Given the description of an element on the screen output the (x, y) to click on. 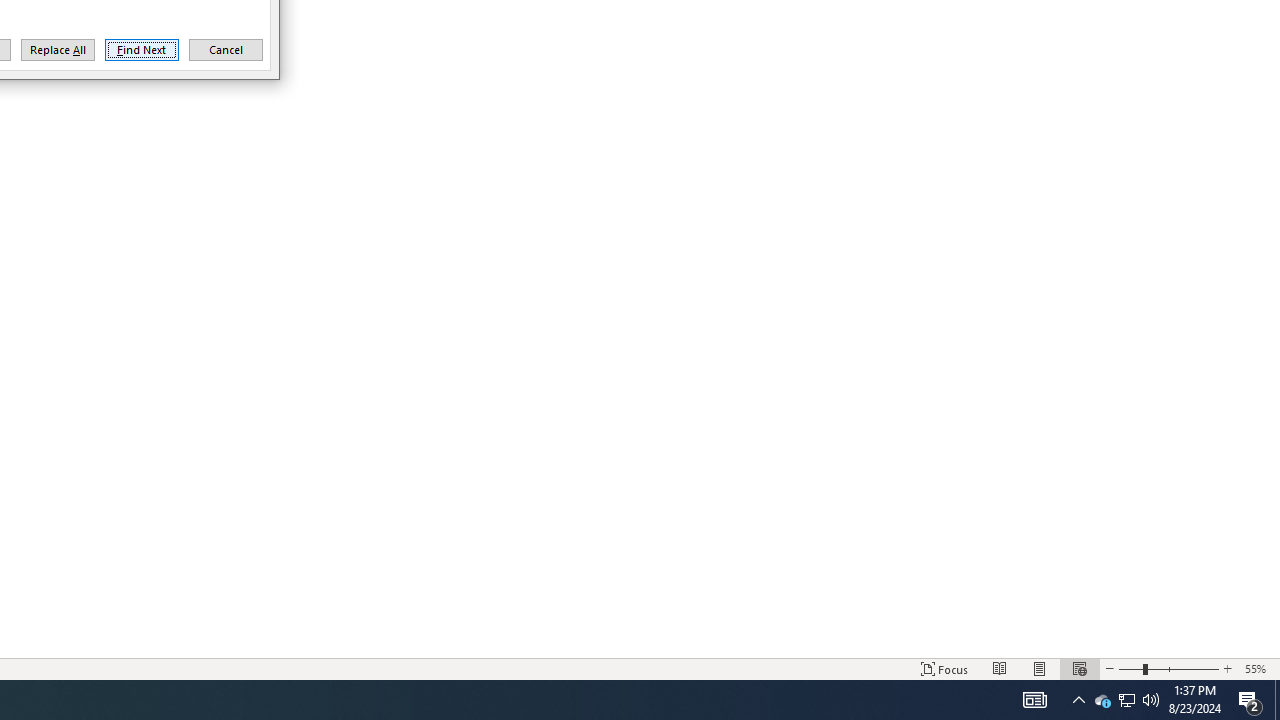
Notification Chevron (1078, 699)
Cancel (225, 49)
Zoom 55% (1258, 668)
Q2790: 100% (1126, 699)
Zoom In (1151, 699)
User Promoted Notification Area (1227, 668)
Read Mode (1126, 699)
AutomationID: 4105 (1102, 699)
Show desktop (1000, 668)
Print Layout (1034, 699)
Zoom (1277, 699)
Zoom Out (1039, 668)
Replace All (1168, 668)
